Given the description of an element on the screen output the (x, y) to click on. 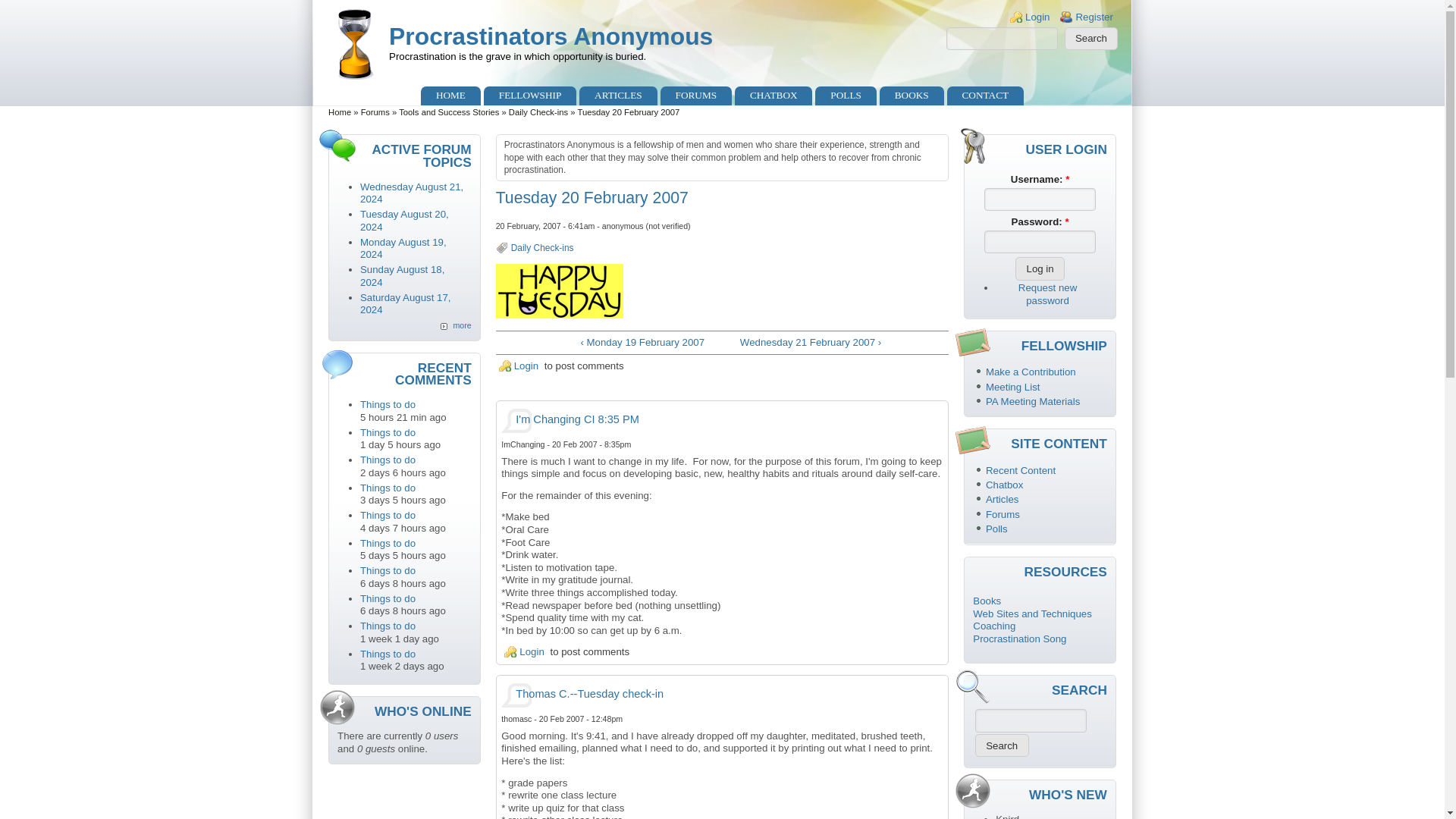
Things to do (386, 487)
Things to do (386, 625)
Things to do (386, 404)
Things to do (386, 432)
Daily Check-ins (542, 247)
Things to do (386, 654)
Forums (375, 112)
Log in (1039, 268)
FELLOWSHIP (529, 96)
